Given the description of an element on the screen output the (x, y) to click on. 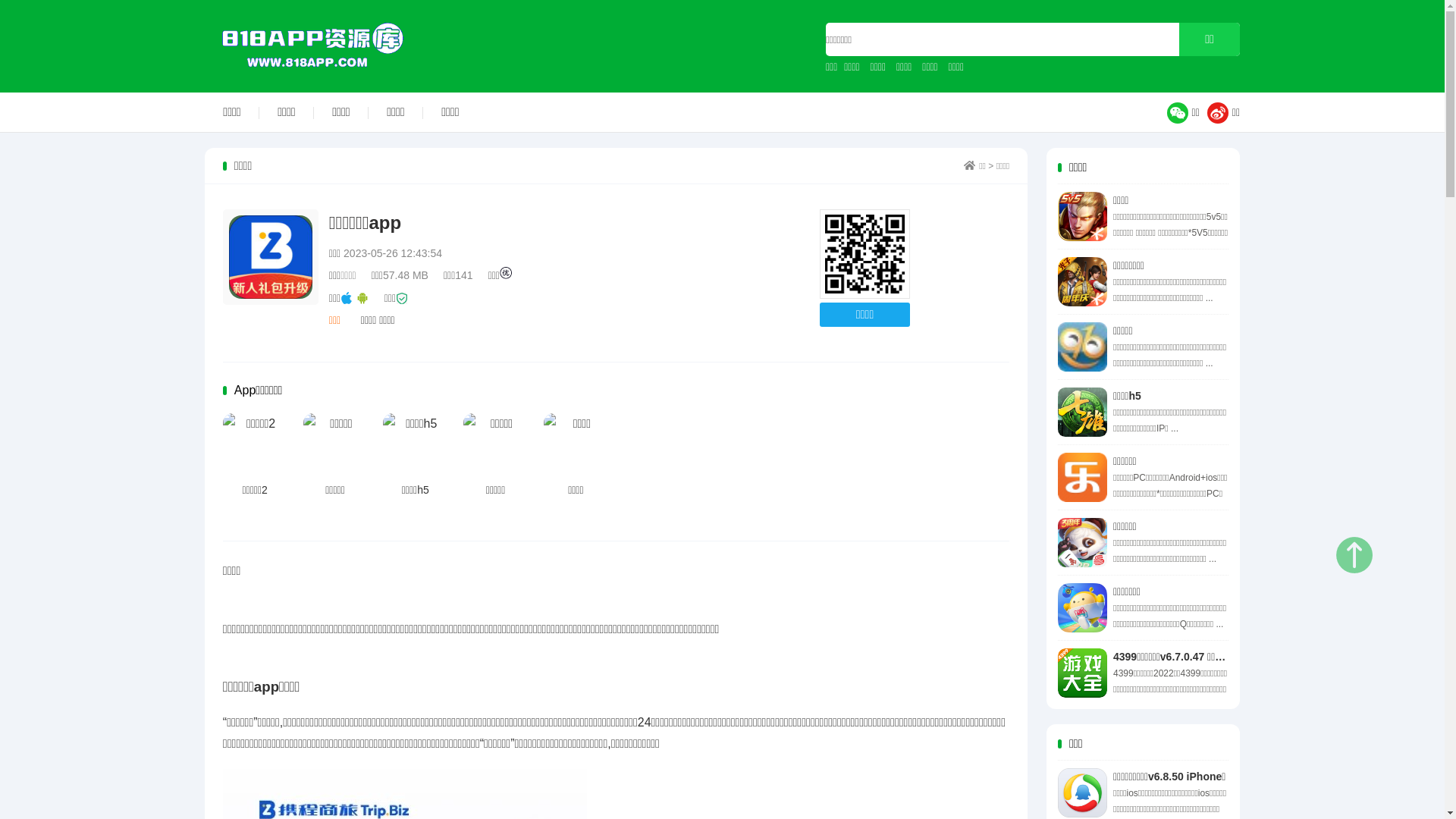
http://www.818app.com Element type: hover (864, 254)
